Given the description of an element on the screen output the (x, y) to click on. 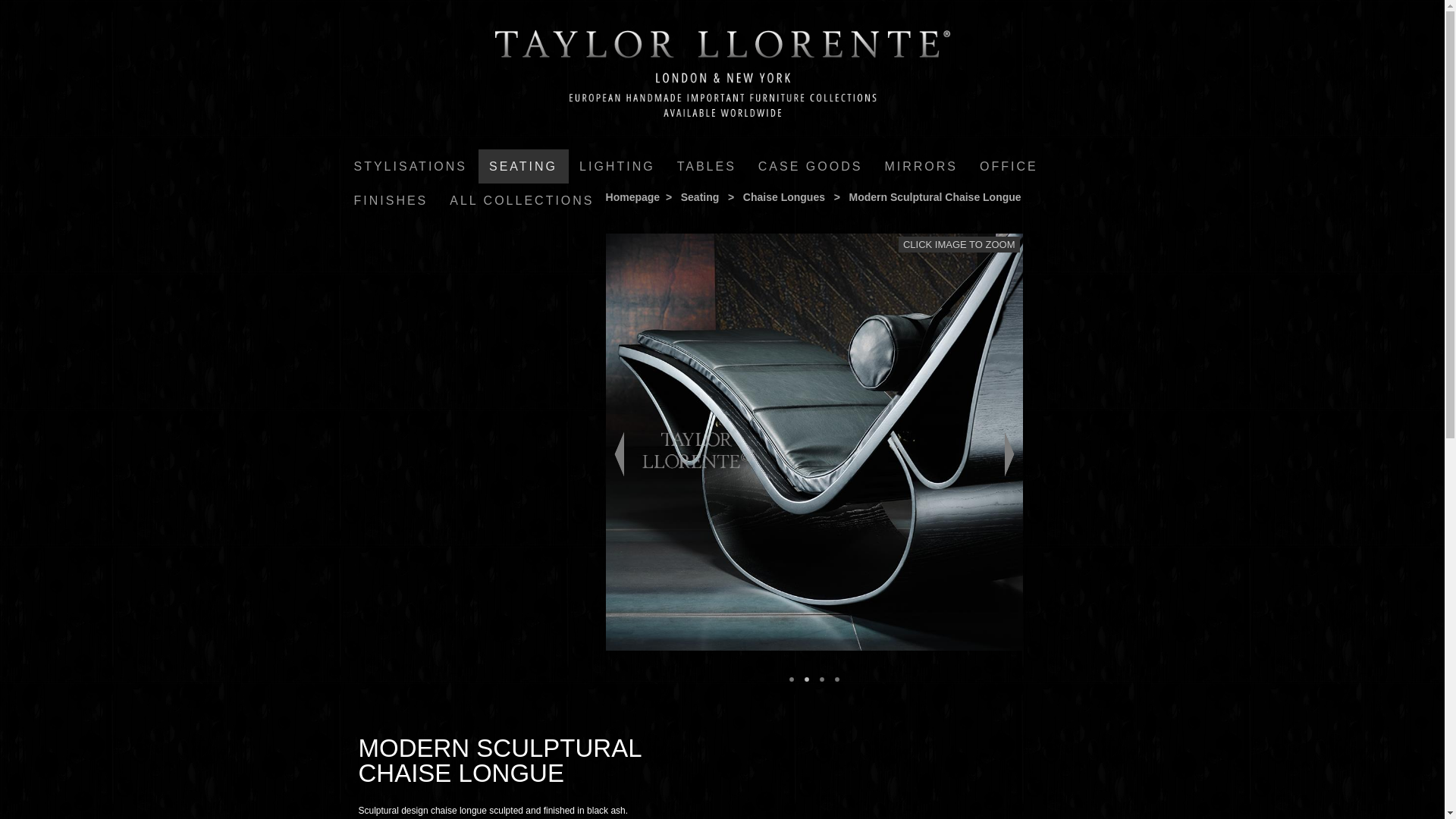
LIGHTING (617, 166)
TABLES (707, 166)
STYLISATIONS (410, 166)
MIRRORS (921, 166)
Lighting (617, 166)
Stylisations (410, 166)
CASE GOODS (811, 166)
Seating (524, 166)
SEATING (524, 166)
